Given the description of an element on the screen output the (x, y) to click on. 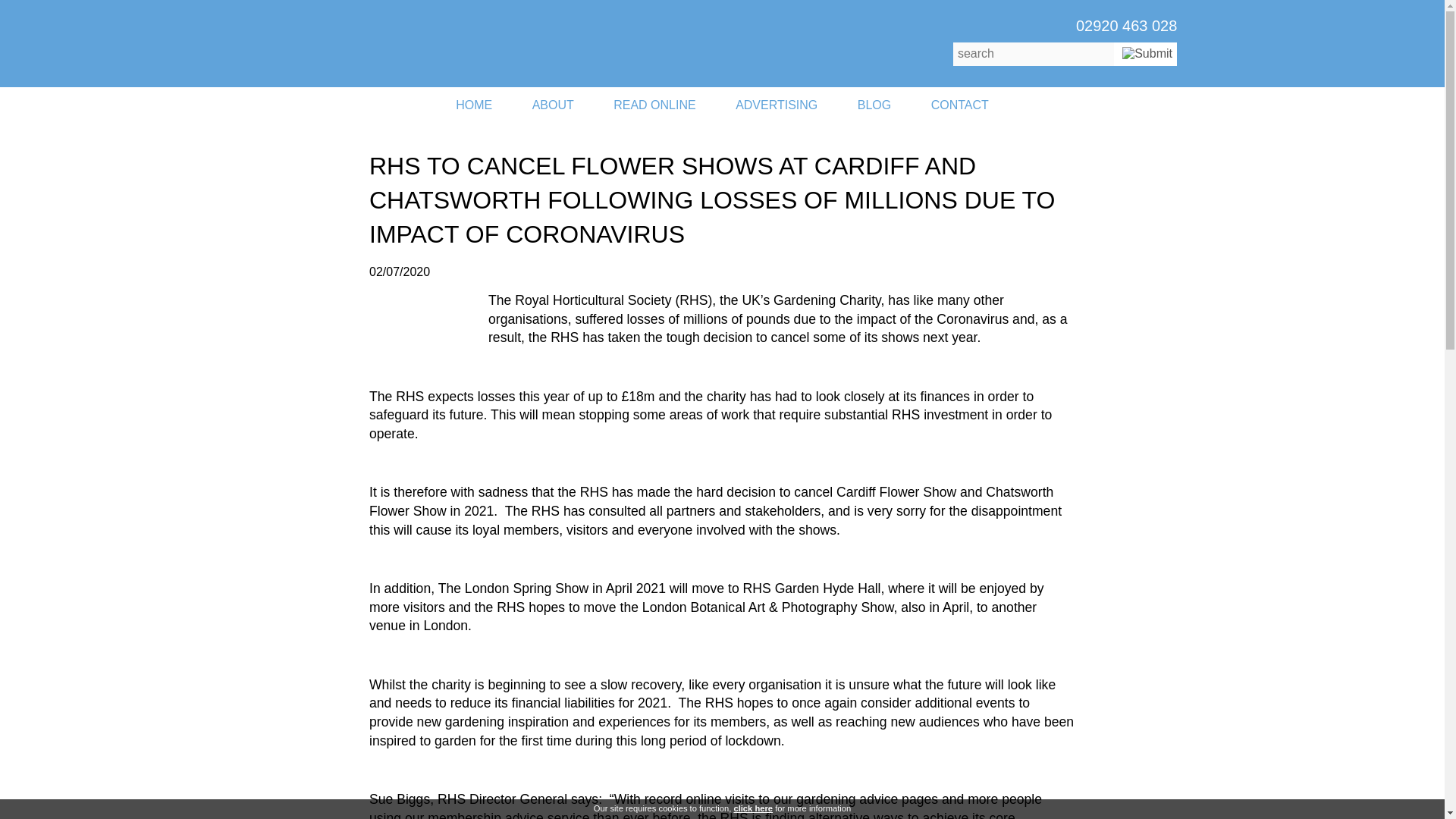
READ ONLINE (654, 104)
ABOUT (552, 104)
02920 463 028 (1125, 25)
CONTACT (959, 104)
HOME (474, 104)
BLOG (874, 104)
click here (753, 808)
ADVERTISING (776, 104)
